Given the description of an element on the screen output the (x, y) to click on. 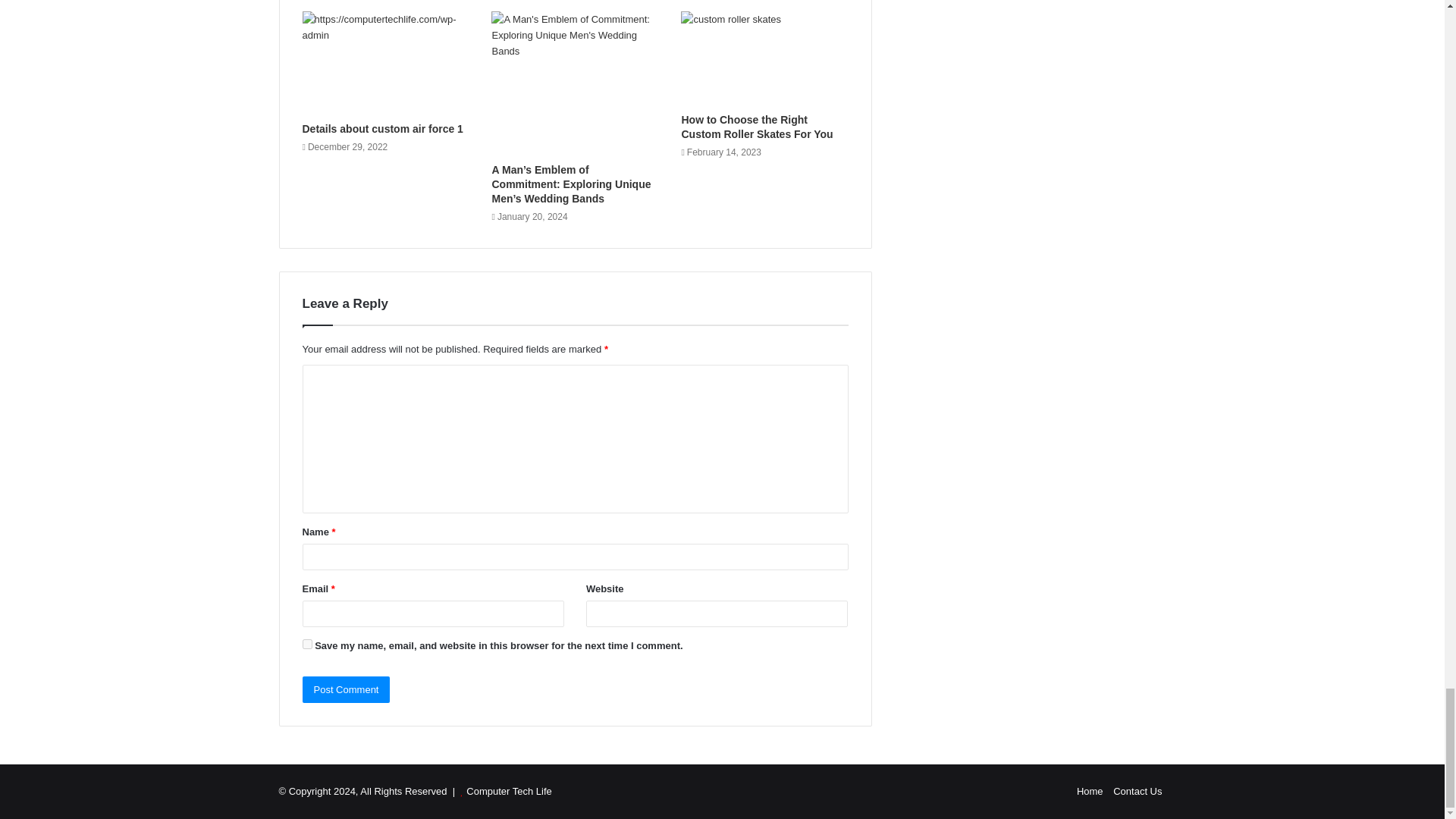
Post Comment (345, 689)
yes (306, 644)
